Given the description of an element on the screen output the (x, y) to click on. 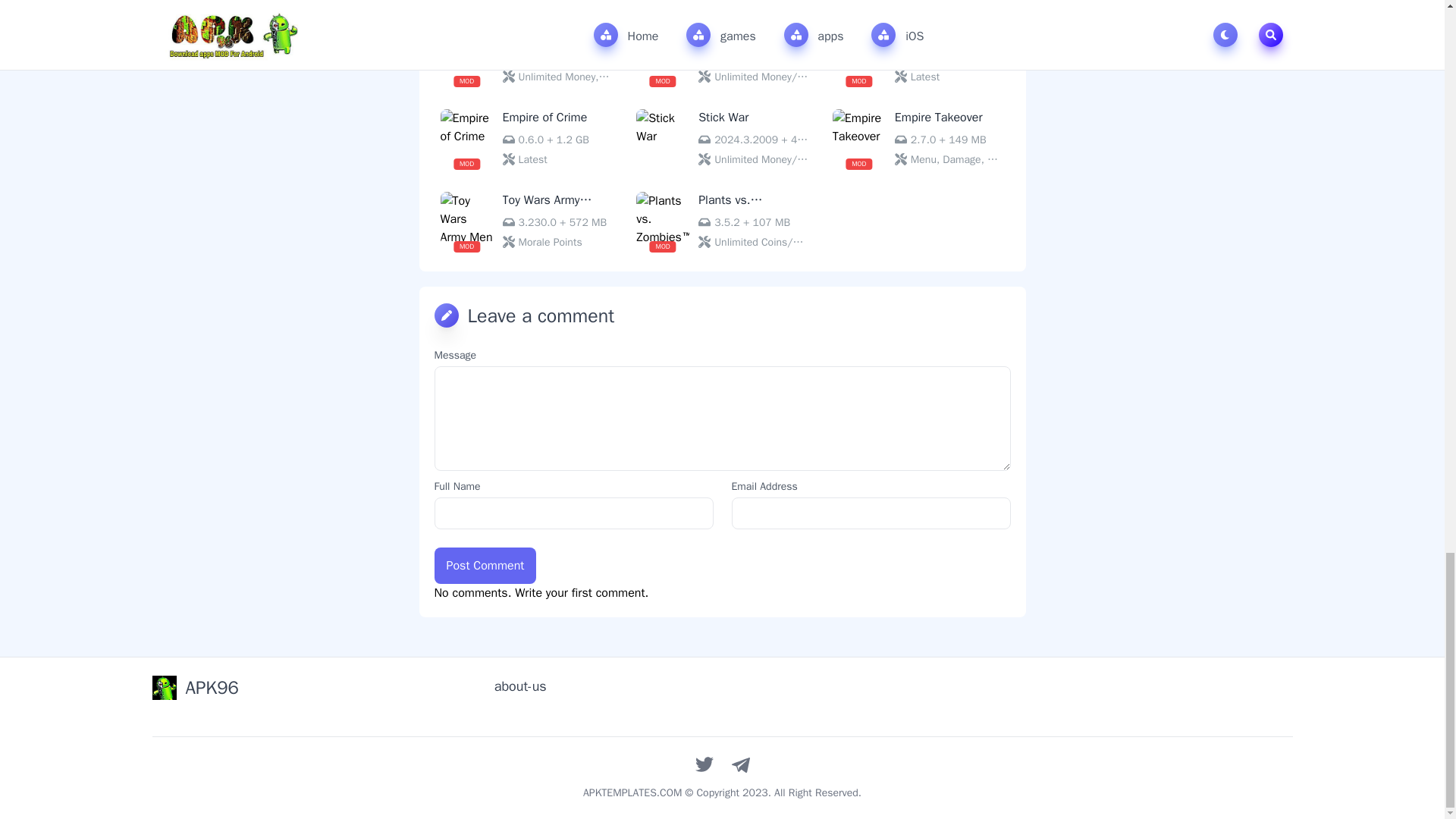
Hexapolis (525, 55)
Stick War (721, 137)
Empire Takeover (918, 137)
Toy Wars Army Men Strike (525, 220)
Empire of Crime (525, 137)
Bloons TD 6 (721, 55)
Project: Island (918, 55)
